Given the description of an element on the screen output the (x, y) to click on. 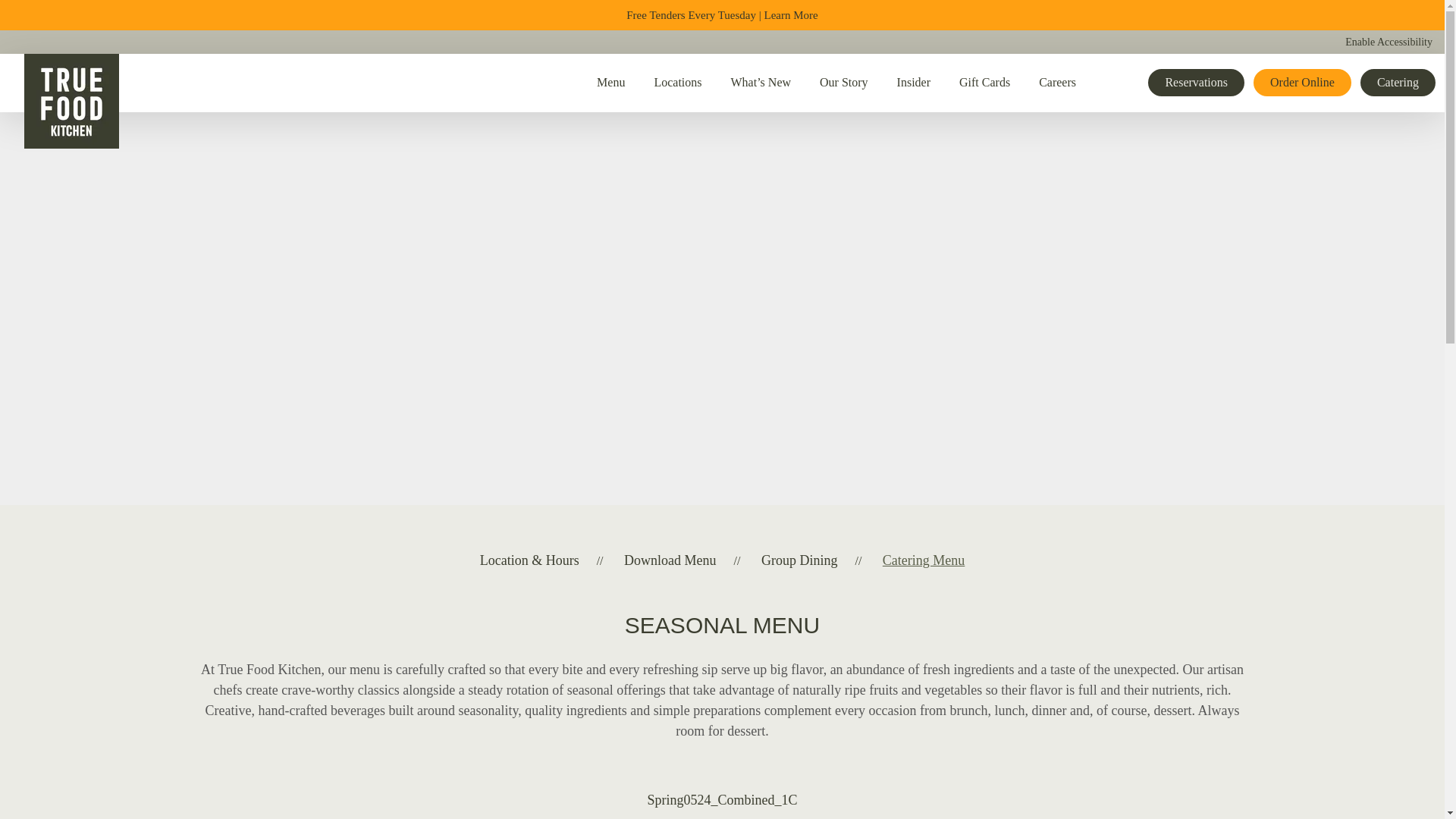
Enable Accessibility (1388, 41)
Catering (1397, 81)
Group Dining (800, 569)
Reservations (1196, 81)
Order Online (1302, 81)
Catering Menu (922, 569)
Learn More (791, 15)
Download Menu (670, 569)
